Given the description of an element on the screen output the (x, y) to click on. 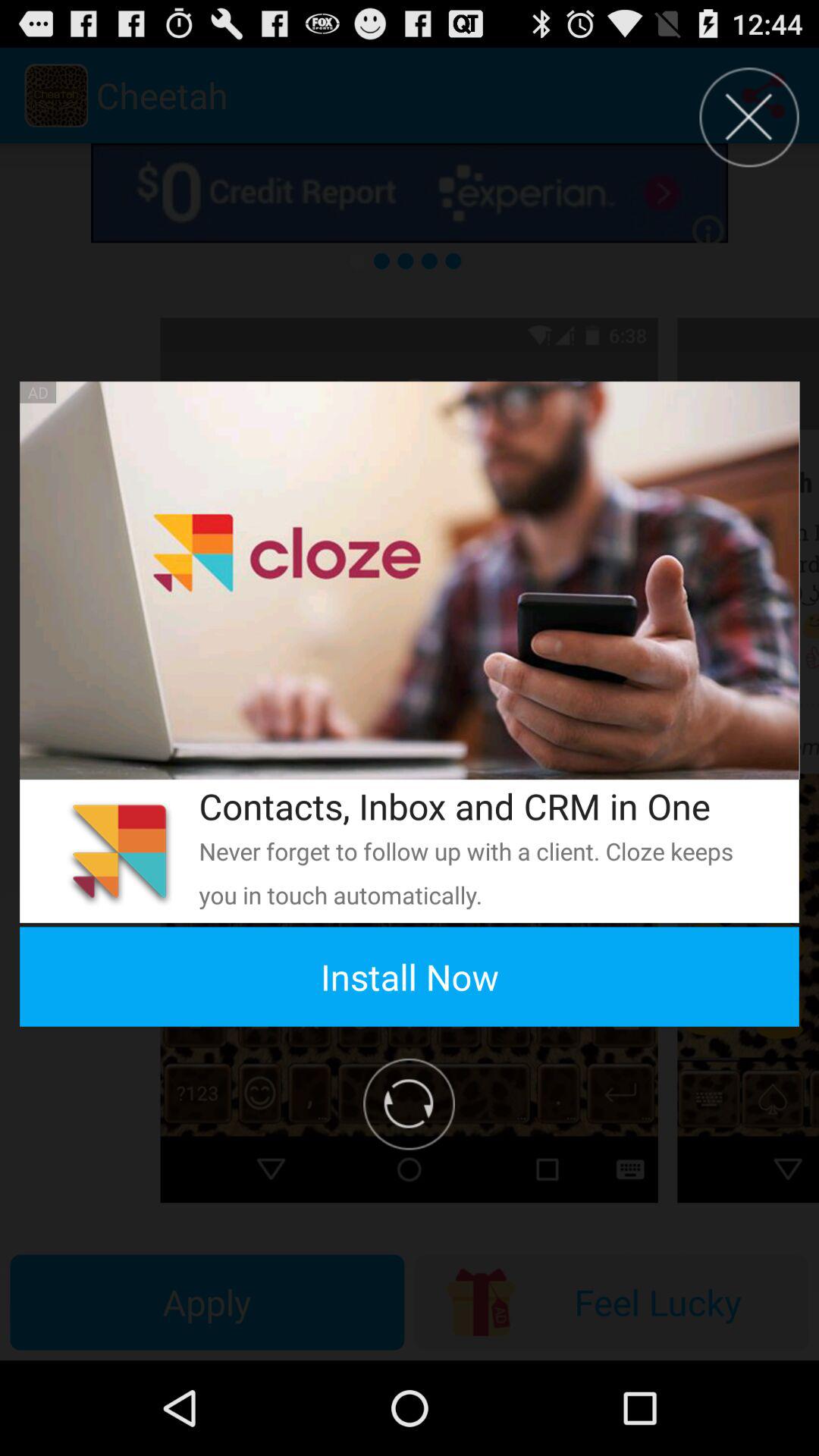
tap the icon on the left (119, 851)
